Given the description of an element on the screen output the (x, y) to click on. 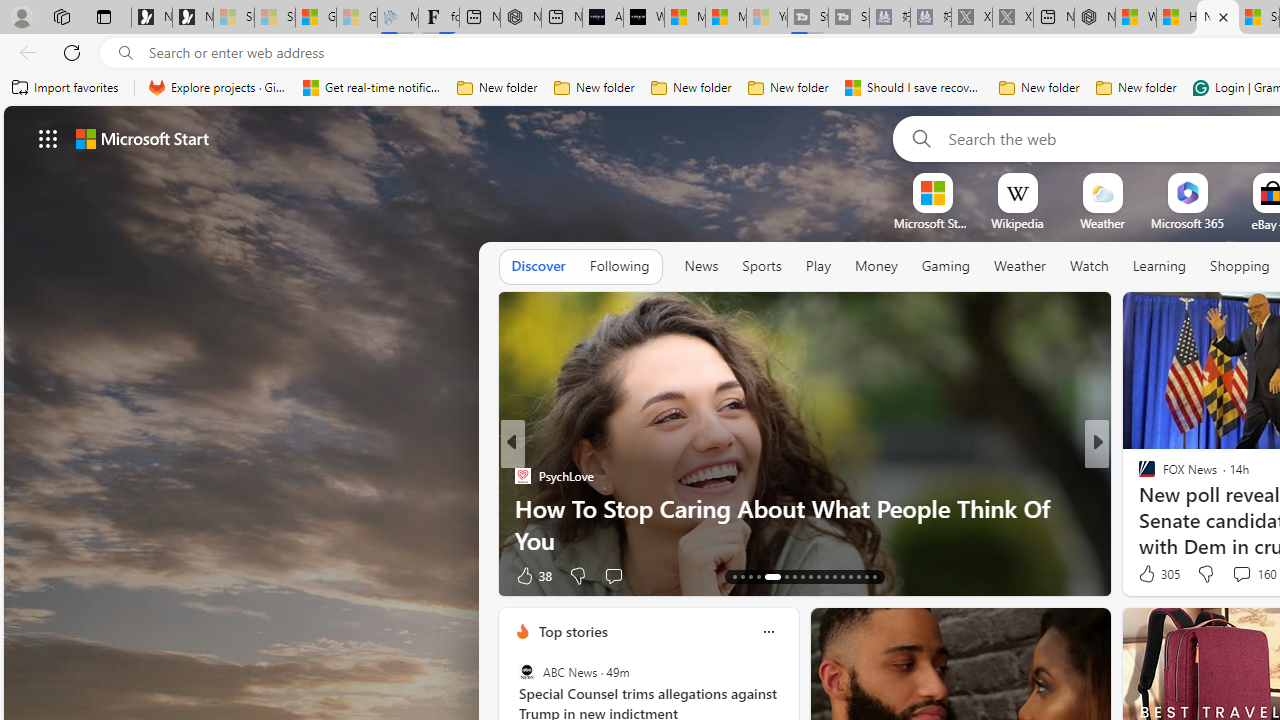
New folder (1136, 88)
View comments 5 Comment (1229, 575)
AutomationID: tab-20 (801, 576)
AutomationID: tab-14 (742, 576)
View comments 61 Comment (11, 575)
63 Like (1149, 574)
